Given the description of an element on the screen output the (x, y) to click on. 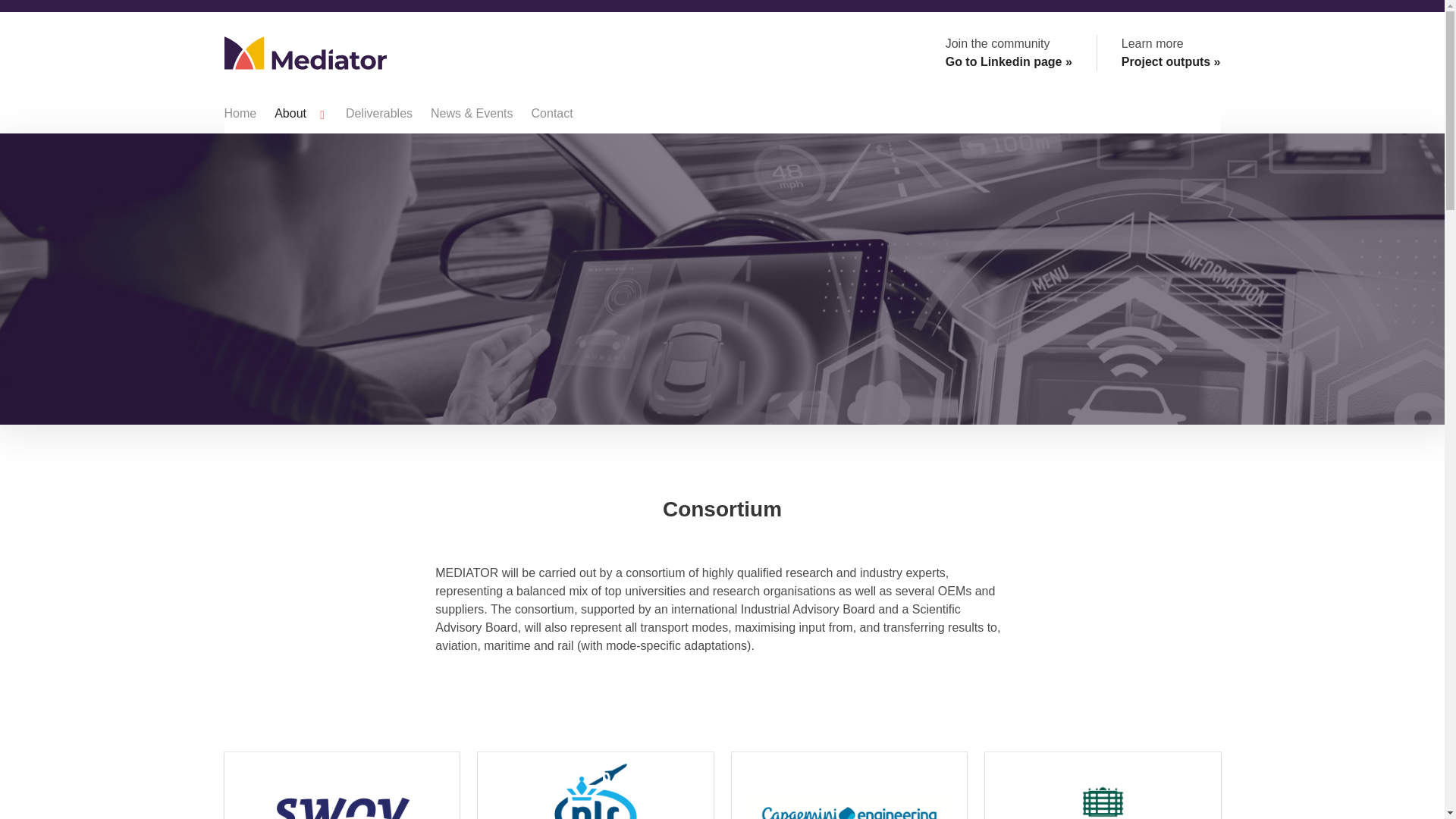
Contact (552, 113)
Deliverables (379, 113)
Home (240, 113)
